Given the description of an element on the screen output the (x, y) to click on. 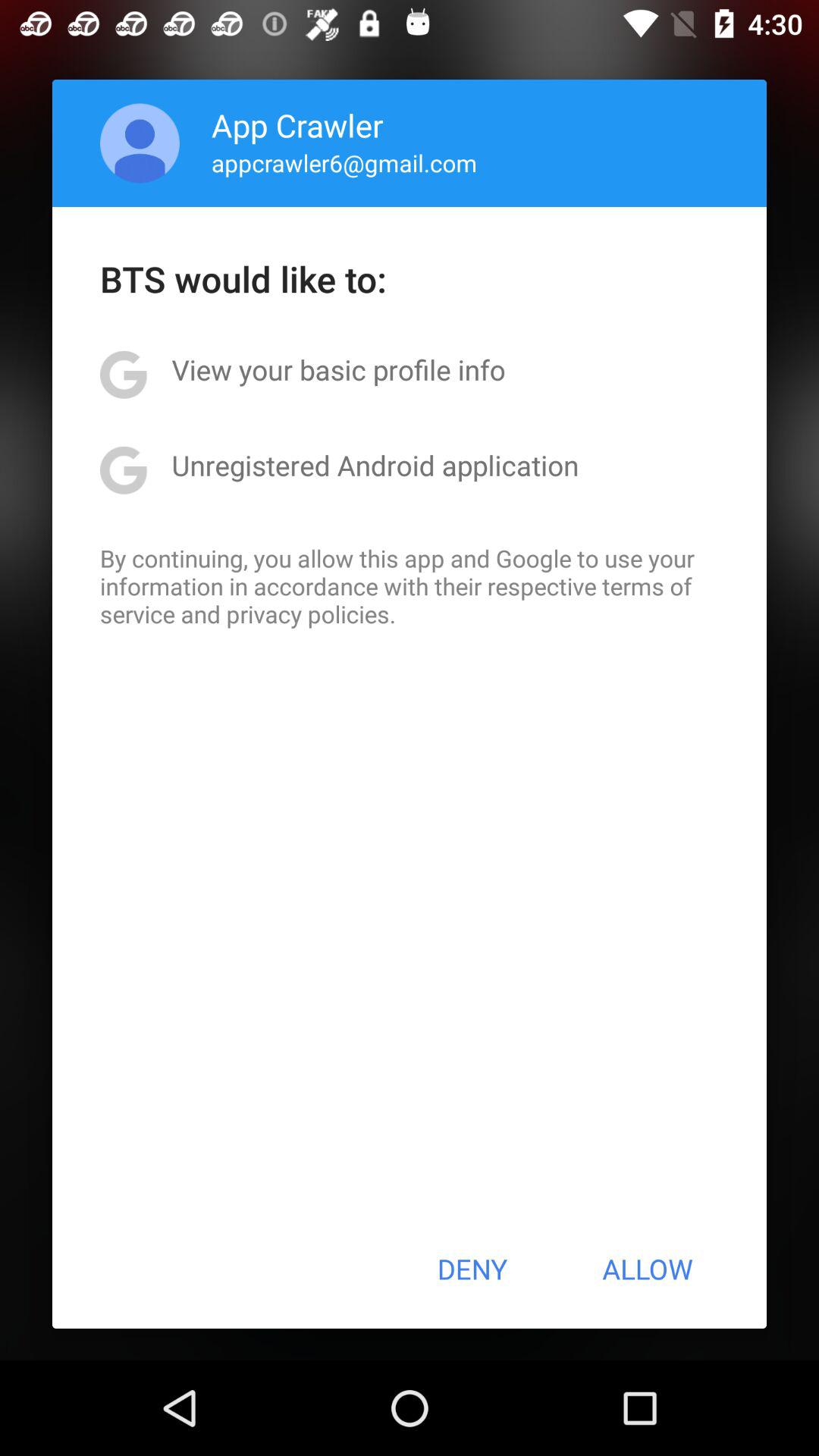
press app crawler (297, 124)
